Given the description of an element on the screen output the (x, y) to click on. 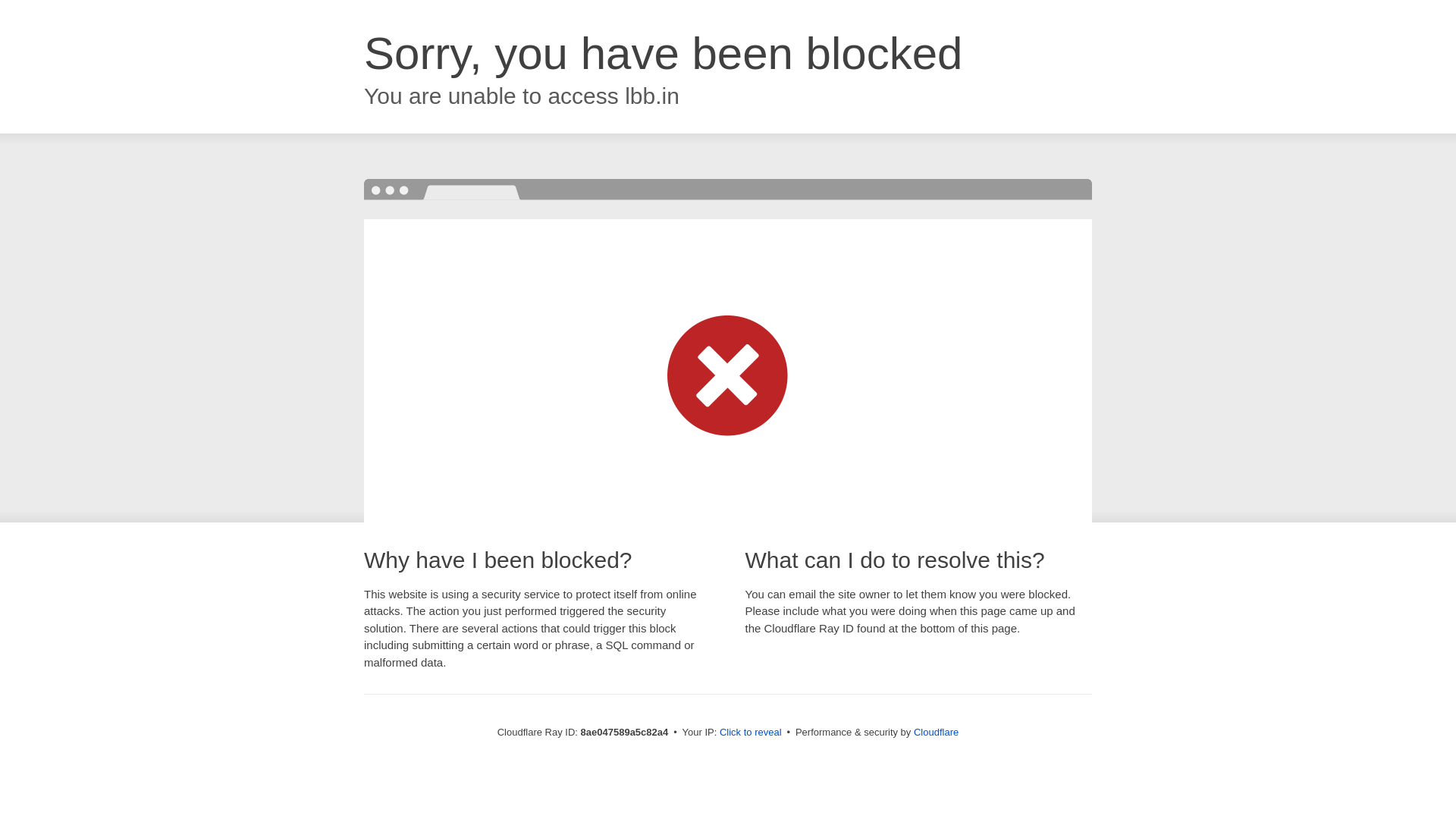
Click to reveal (750, 732)
Cloudflare (936, 731)
